Given the description of an element on the screen output the (x, y) to click on. 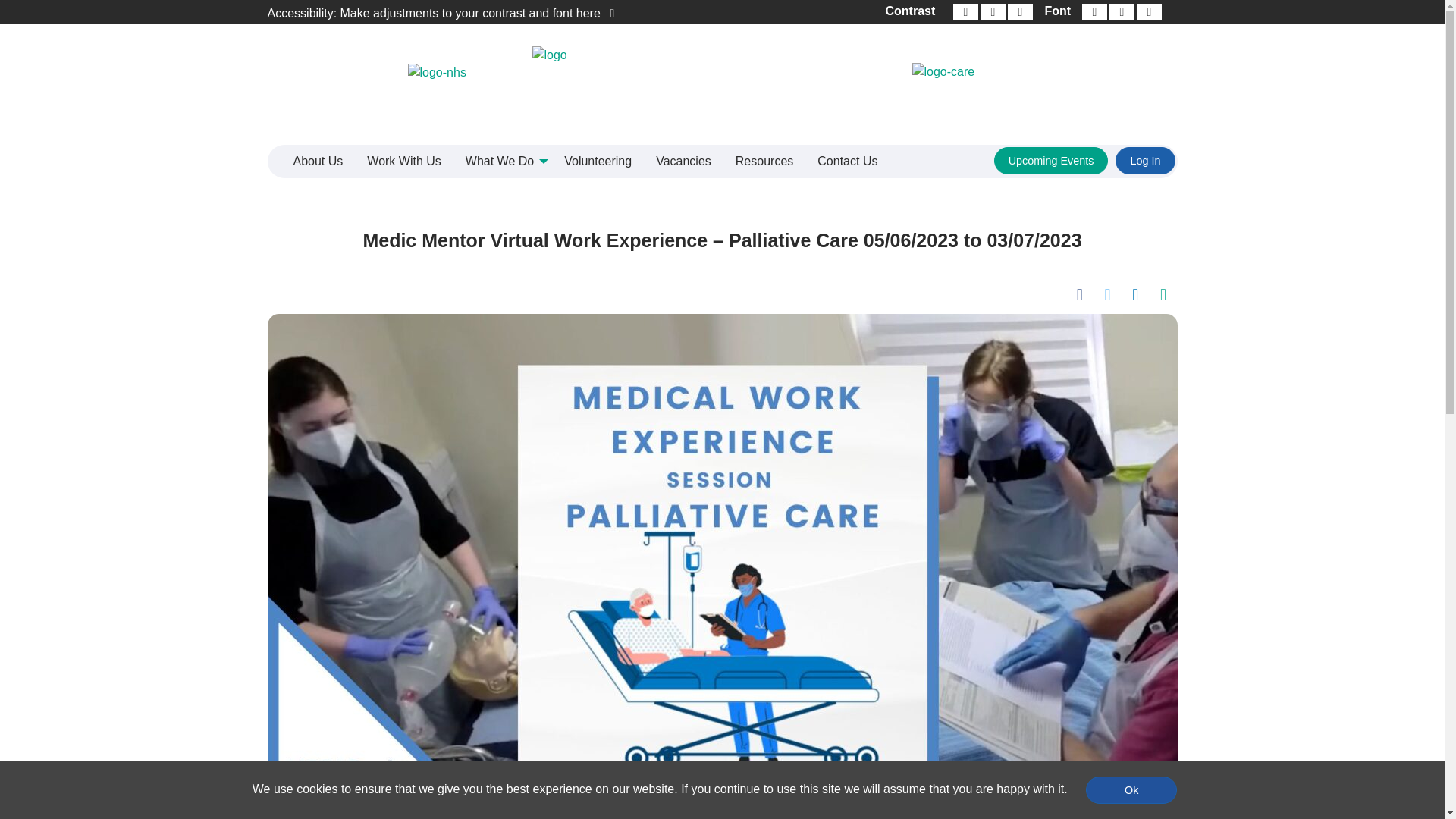
Volunteering (597, 161)
Set high contrast mode (1019, 12)
Set night contrast mode (991, 12)
Vacancies (683, 161)
About Us (318, 161)
Upcoming Events (1051, 160)
What We Do (501, 161)
Contact Us (847, 161)
Set smaller font size (1093, 12)
Resources (764, 161)
Log In (1144, 160)
Set default font size (1121, 12)
Set default contrast mode (964, 12)
Work With Us (403, 161)
